Given the description of an element on the screen output the (x, y) to click on. 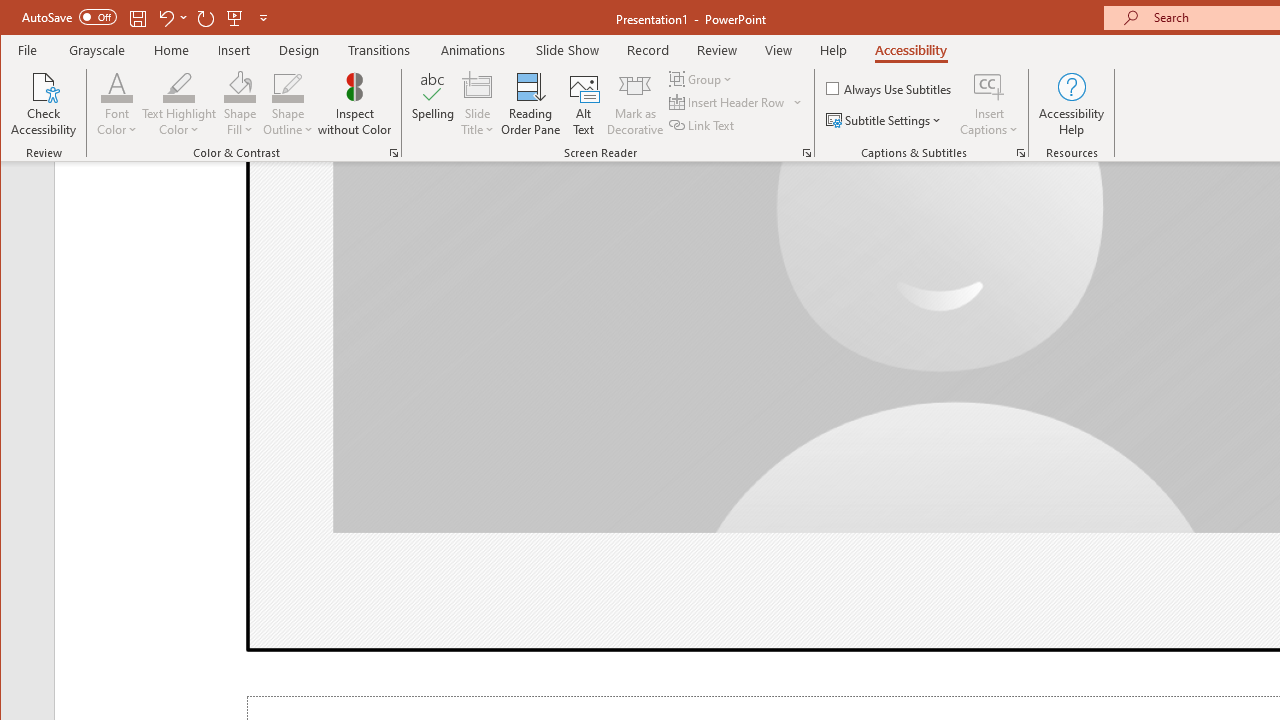
Always Use Subtitles (890, 88)
Screen Reader (806, 152)
Subtitle Settings (885, 119)
Accessibility Help (1071, 104)
